Given the description of an element on the screen output the (x, y) to click on. 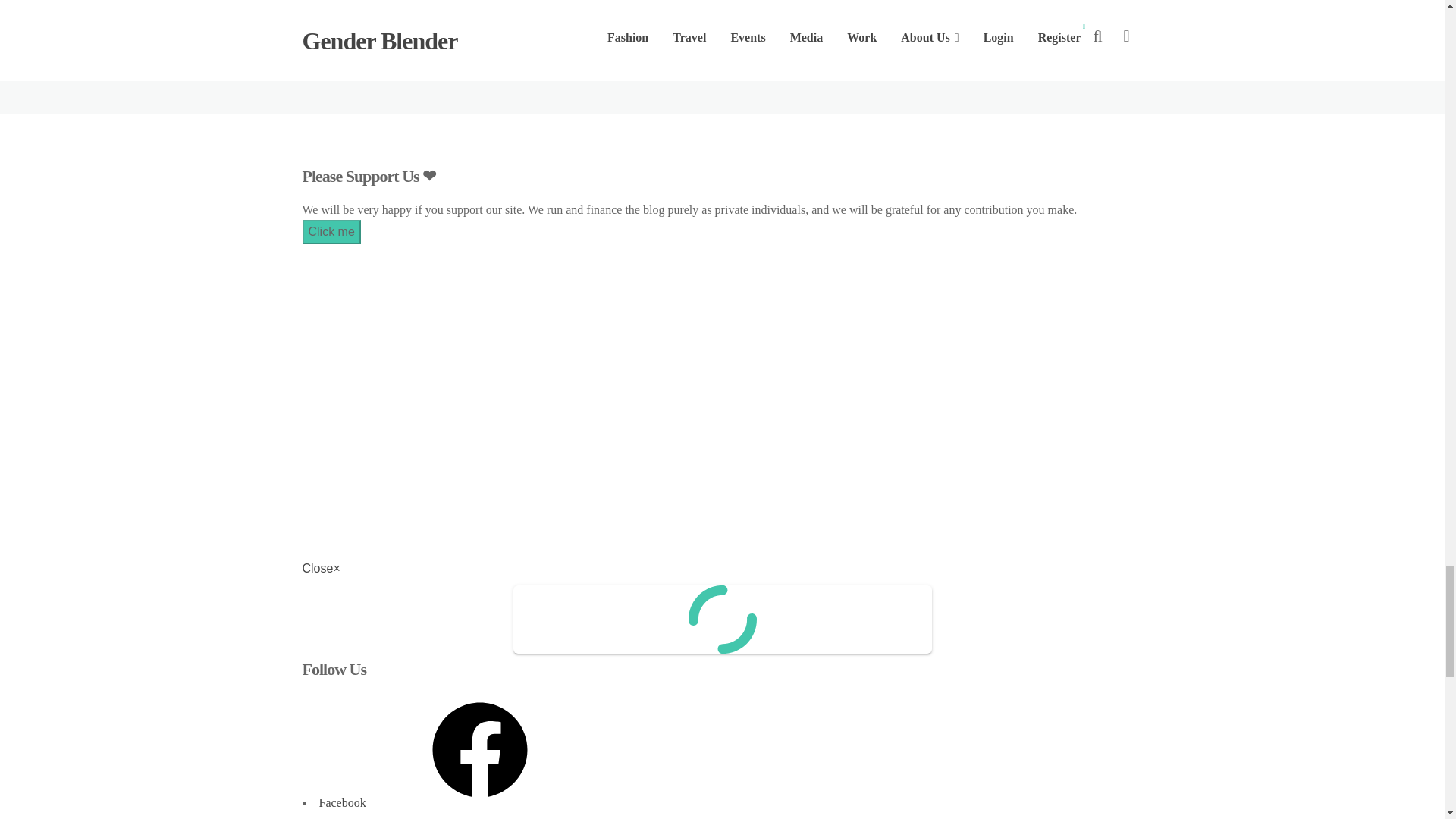
Comment Form (721, 27)
